Given the description of an element on the screen output the (x, y) to click on. 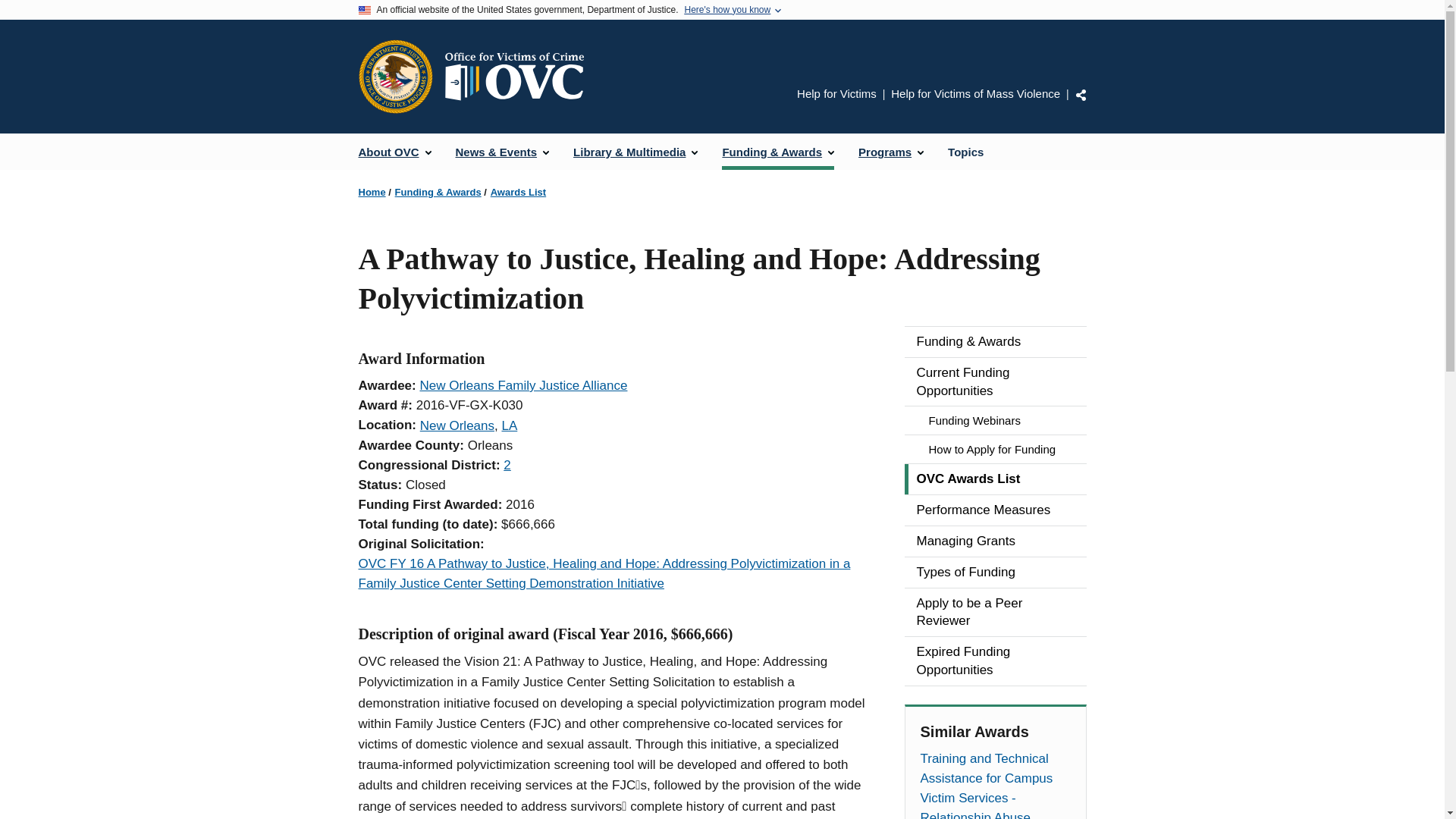
Types of Funding (995, 572)
LA (508, 425)
Home (519, 76)
Choose a social sharing platform (1080, 94)
About OVC (394, 151)
Help for Victims (836, 93)
Share (1080, 94)
Office of Justice Programs (395, 76)
